Given the description of an element on the screen output the (x, y) to click on. 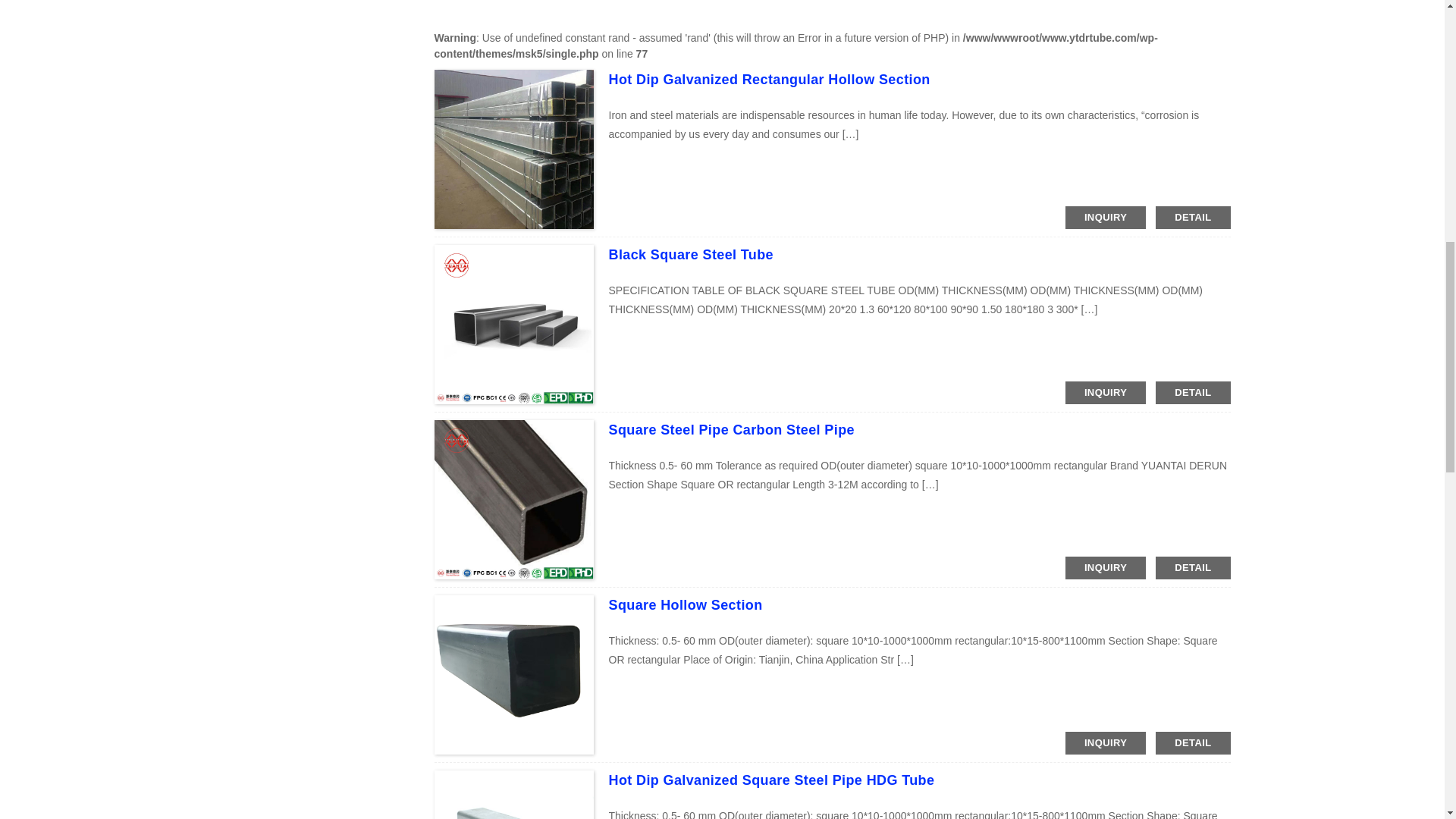
Black Square Steel Tube (690, 254)
Square Steel Pipe Carbon Steel Pipe (730, 429)
INQUIRY (1105, 392)
Square Hollow Section (684, 604)
Hot Dip Galvanized Rectangular Hollow Section (769, 79)
Square Hollow Section (684, 604)
INQUIRY (1105, 567)
DETAIL (1193, 217)
Black Square Steel Tube (690, 254)
Hot Dip Galvanized Rectangular Hollow Section (769, 79)
